Given the description of an element on the screen output the (x, y) to click on. 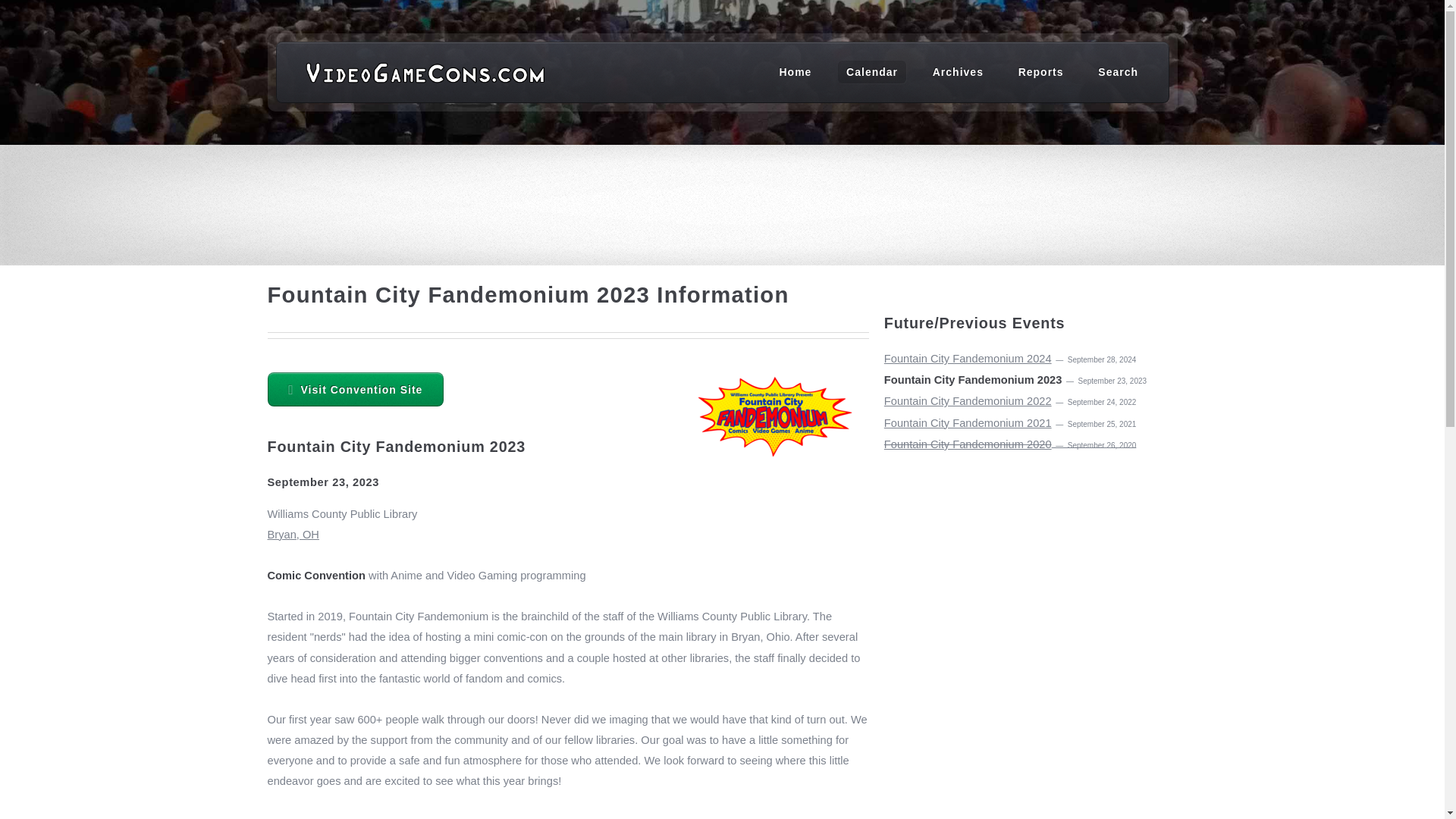
Search (1118, 71)
Bryan, OH (566, 544)
Home (794, 71)
Reports (1040, 71)
Visit Convention Site (355, 389)
3rd party ad content (722, 196)
Visit Convention Site (355, 389)
Calendar (871, 71)
Archives (957, 71)
Fountain City Fandemonium 2022 (967, 400)
Fountain City Fandemonium 2020 (967, 444)
Fountain City Fandemonium 2021 (967, 422)
Fountain City Fandemonium 2024 (967, 358)
